Given the description of an element on the screen output the (x, y) to click on. 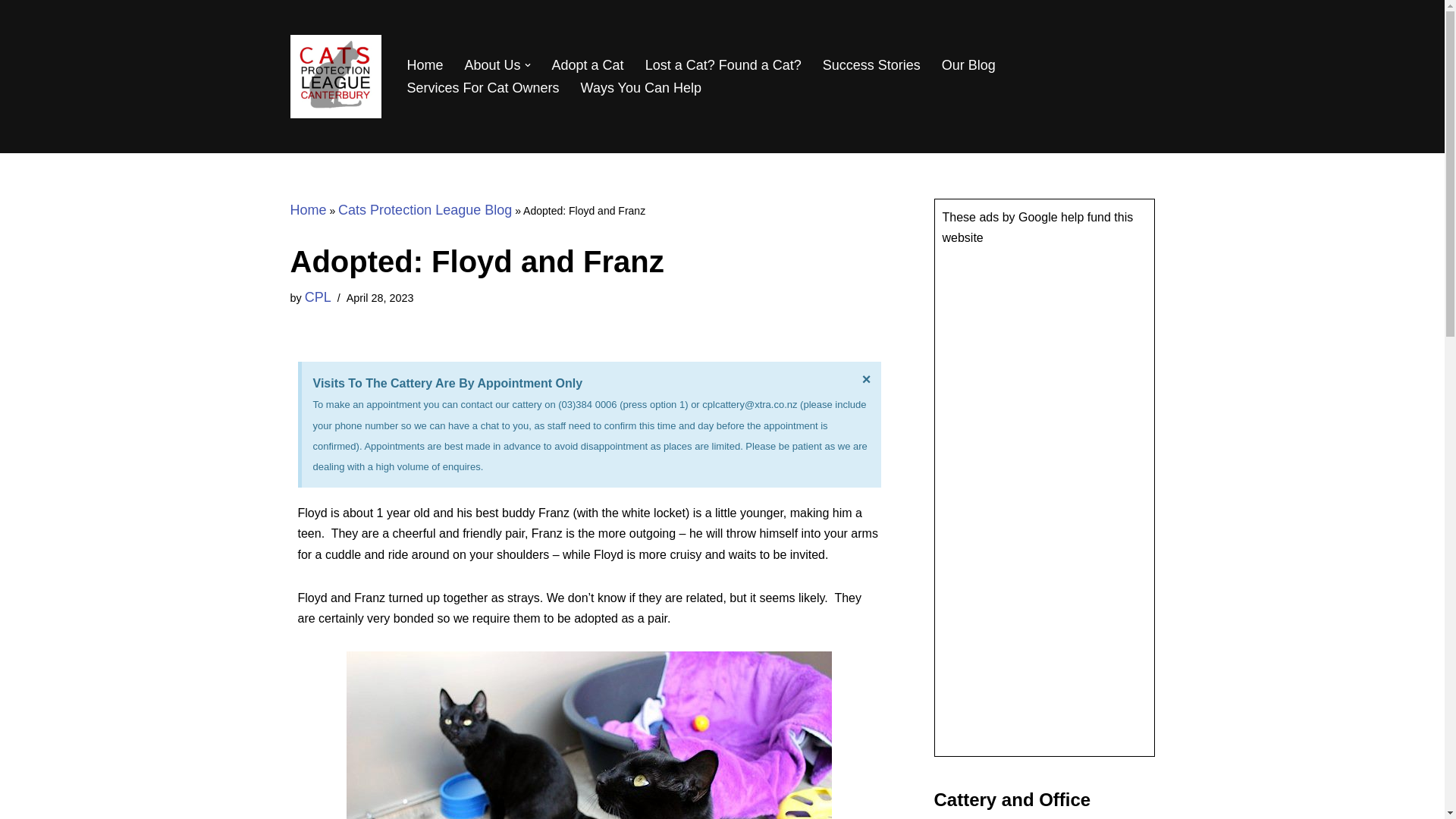
CPL (317, 296)
Ways You Can Help (640, 87)
Adopt a Cat (587, 65)
Posts by CPL (317, 296)
Services For Cat Owners (482, 87)
Home (307, 209)
About Us (492, 65)
Cats Protection League Blog (424, 209)
Success Stories (871, 65)
Our Blog (968, 65)
Lost a Cat? Found a Cat? (723, 65)
Skip to content (11, 31)
Home (424, 65)
